Given the description of an element on the screen output the (x, y) to click on. 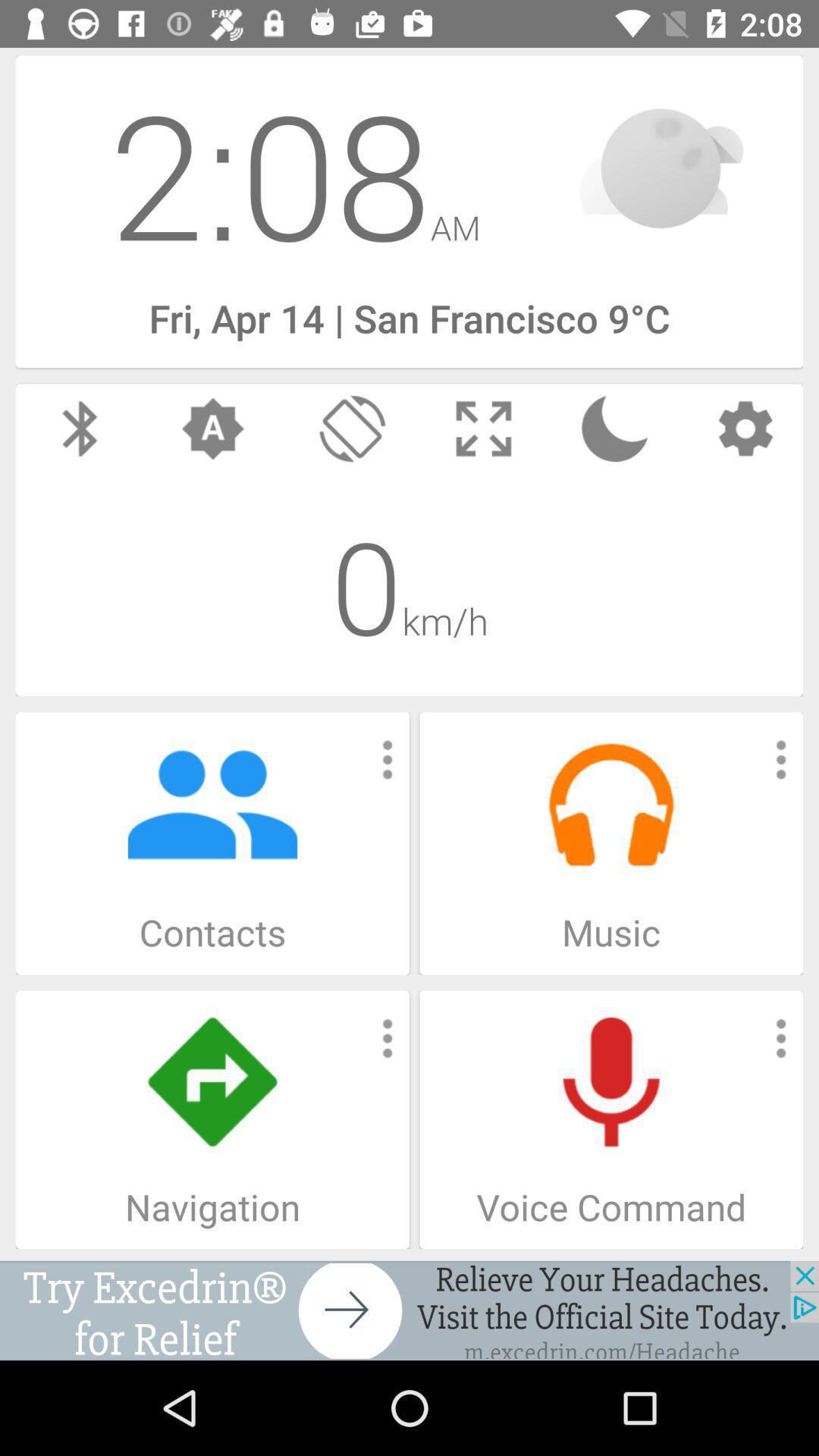
view advertisement (409, 1310)
